Given the description of an element on the screen output the (x, y) to click on. 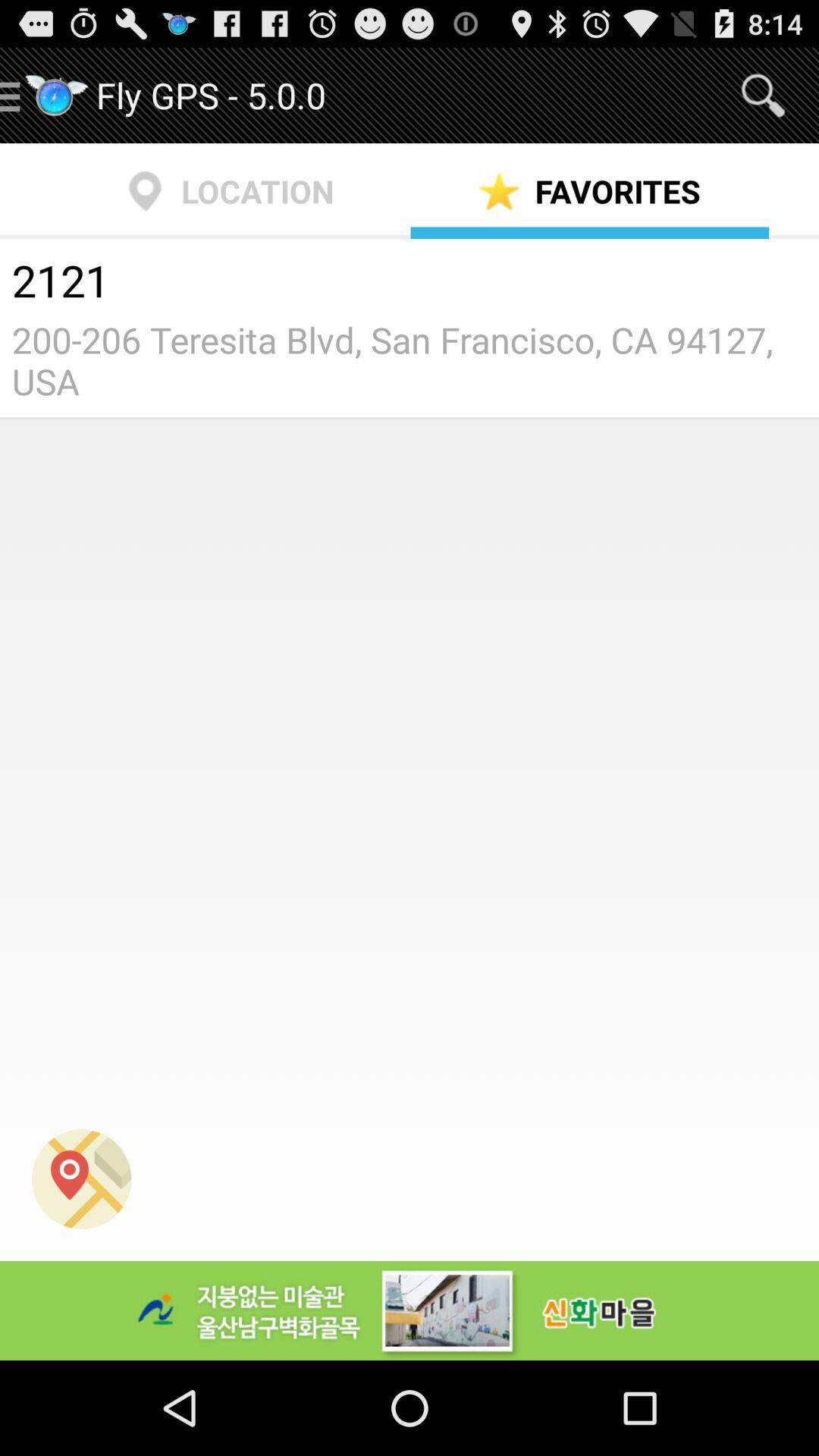
choose the item above favorites icon (763, 95)
